Given the description of an element on the screen output the (x, y) to click on. 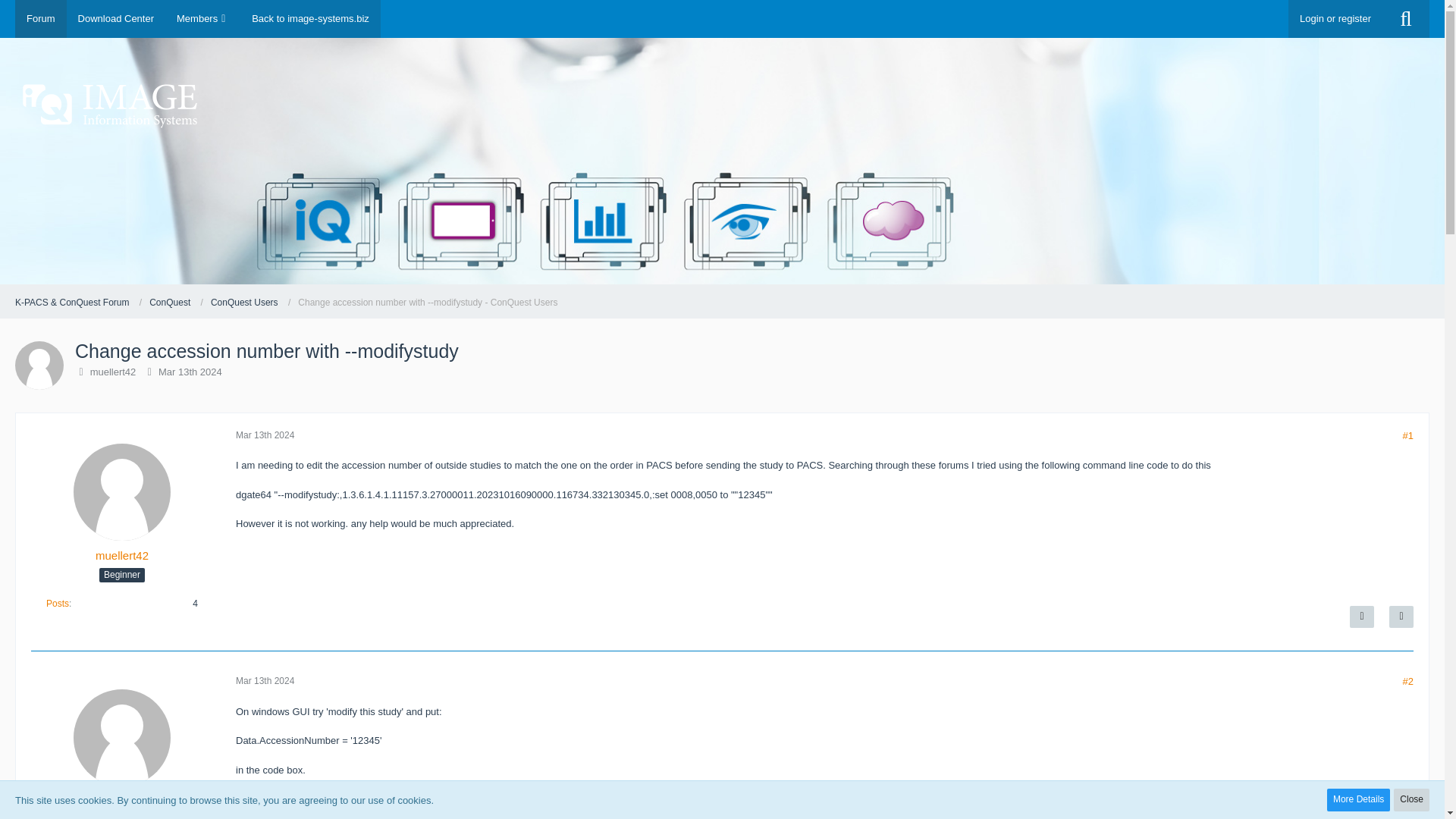
Mar 13th 2024 (264, 434)
Members (202, 18)
Download Center (115, 18)
Mar 13th 2024 (264, 680)
Back to image-systems.biz (310, 18)
ConQuest (170, 302)
muellert42 (122, 554)
Forum (40, 18)
Mar 13th 2024 (190, 371)
ConQuest Users (246, 302)
ConQuest (176, 303)
muellert42 (113, 371)
ConQuest Users (250, 303)
